Given the description of an element on the screen output the (x, y) to click on. 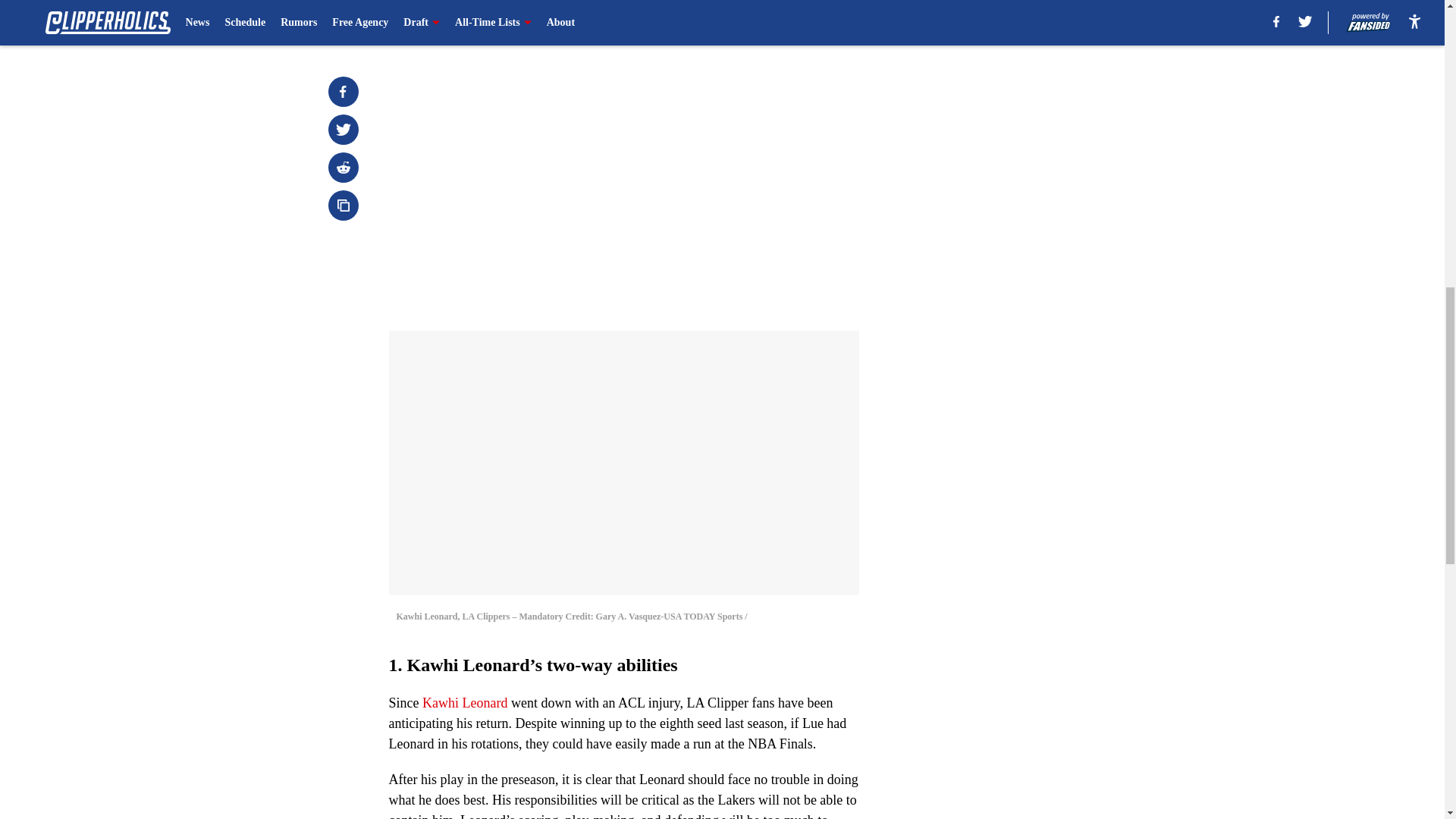
Next (813, 20)
Kawhi Leonard (464, 702)
Prev (433, 20)
